Given the description of an element on the screen output the (x, y) to click on. 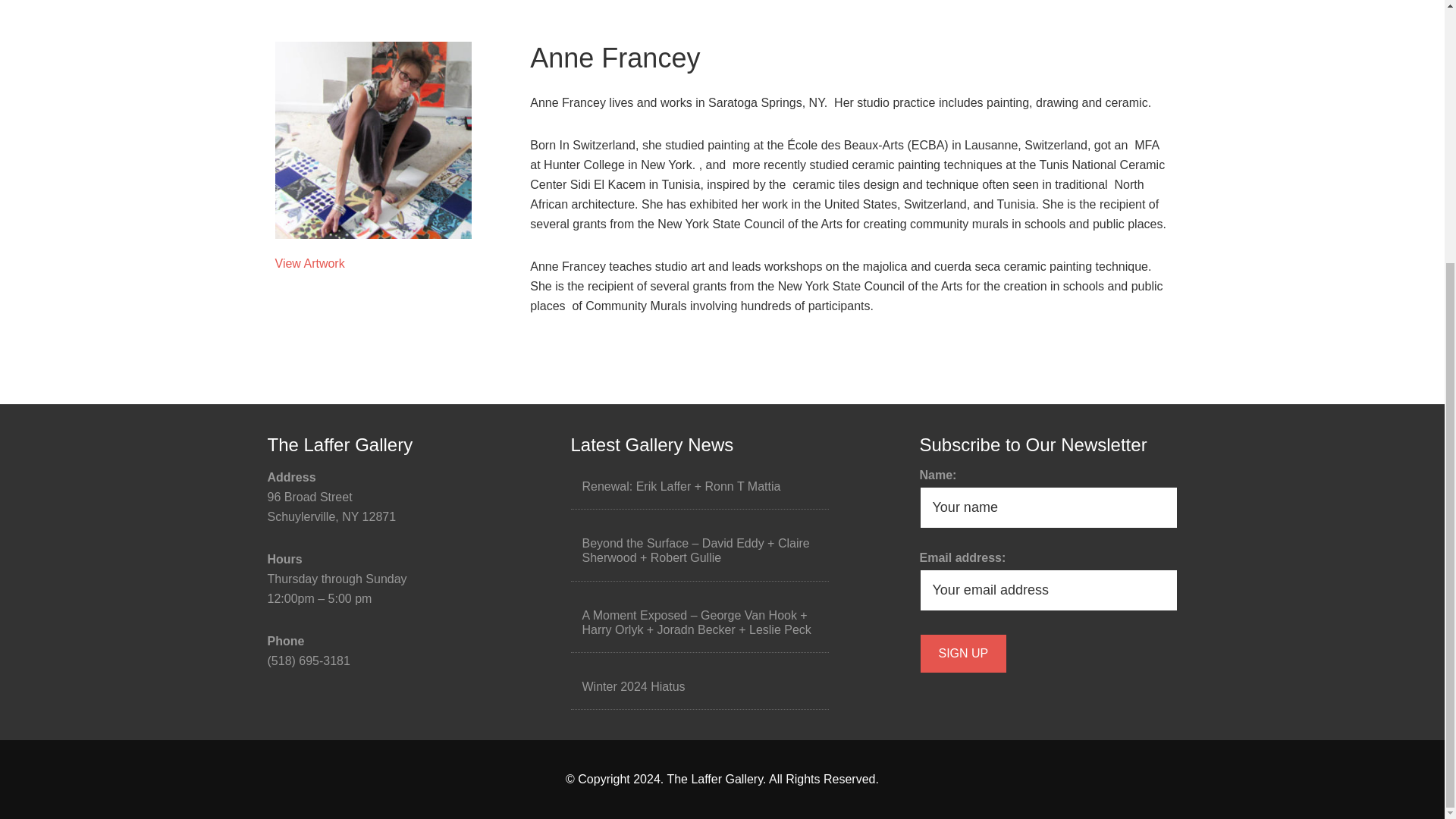
Winter 2024 Hiatus (633, 686)
Sign up (962, 653)
Sign up (962, 653)
View Artwork (309, 263)
